Given the description of an element on the screen output the (x, y) to click on. 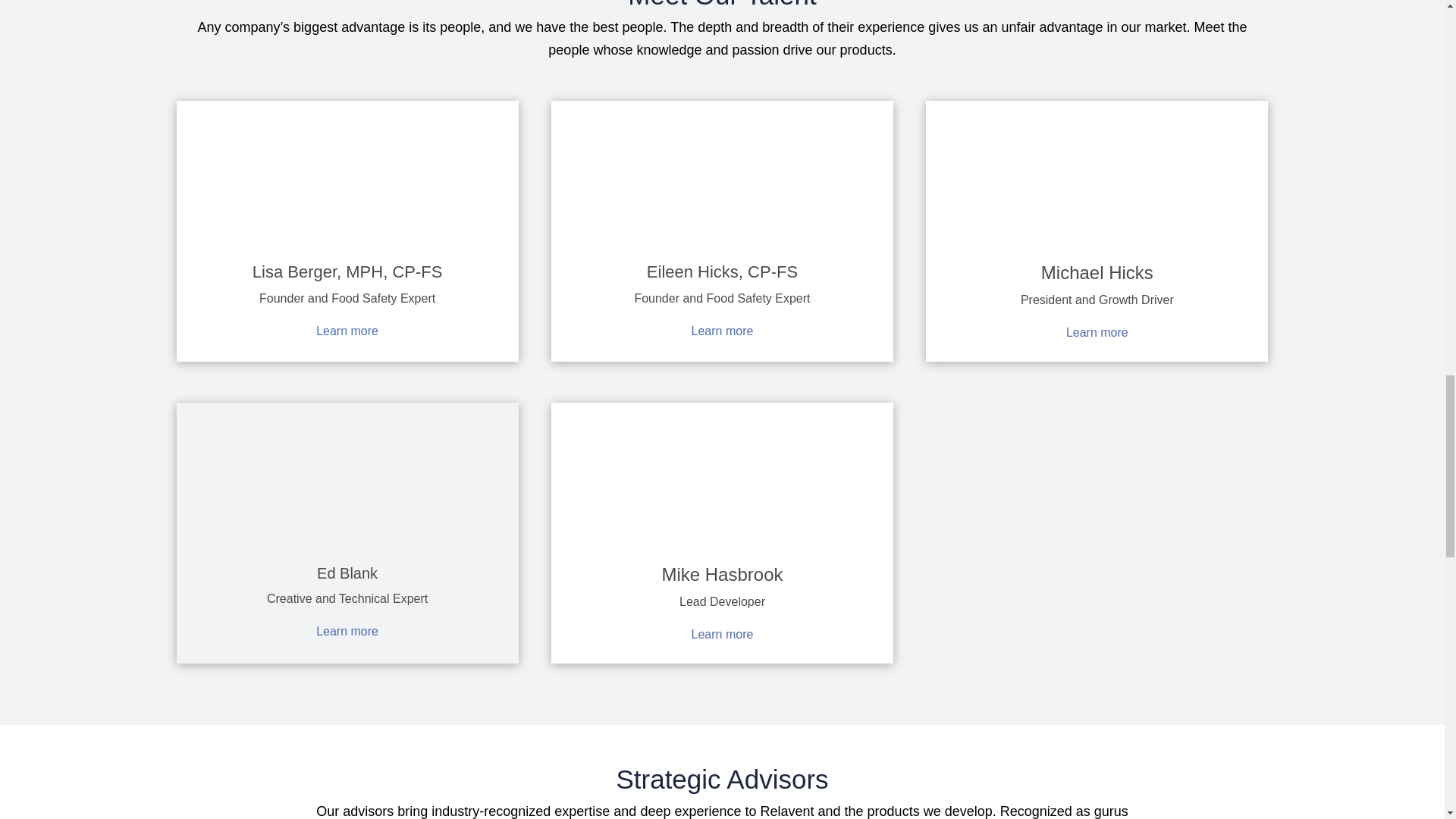
Learn more (346, 330)
Learn more (722, 634)
Learn more (1096, 332)
Learn more (346, 631)
Learn more (722, 330)
